Given the description of an element on the screen output the (x, y) to click on. 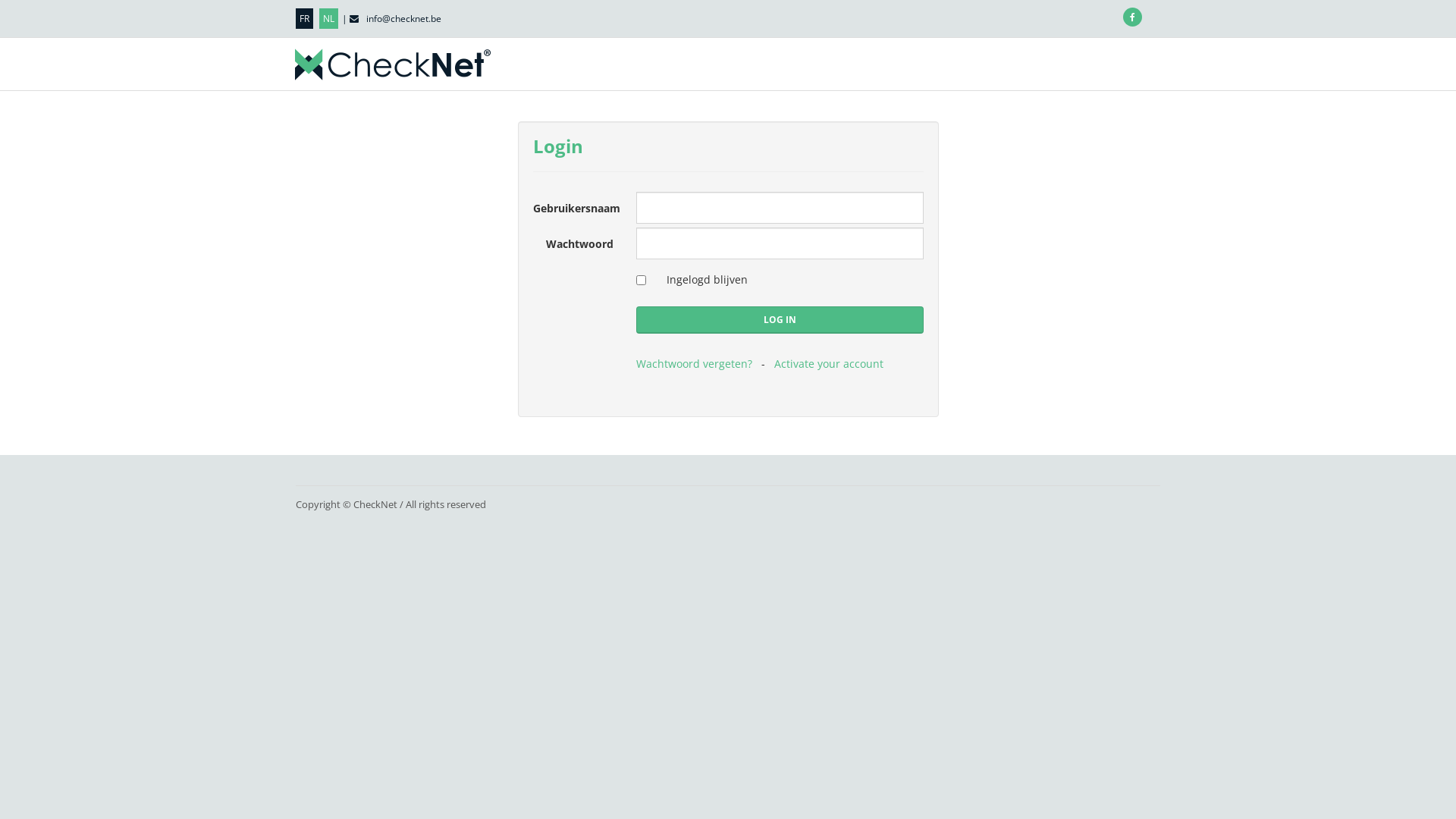
NL Element type: text (328, 18)
Wachtwoord vergeten? Element type: text (694, 363)
Activate your account Element type: text (828, 363)
FR Element type: text (304, 18)
Log In Element type: text (779, 319)
